Given the description of an element on the screen output the (x, y) to click on. 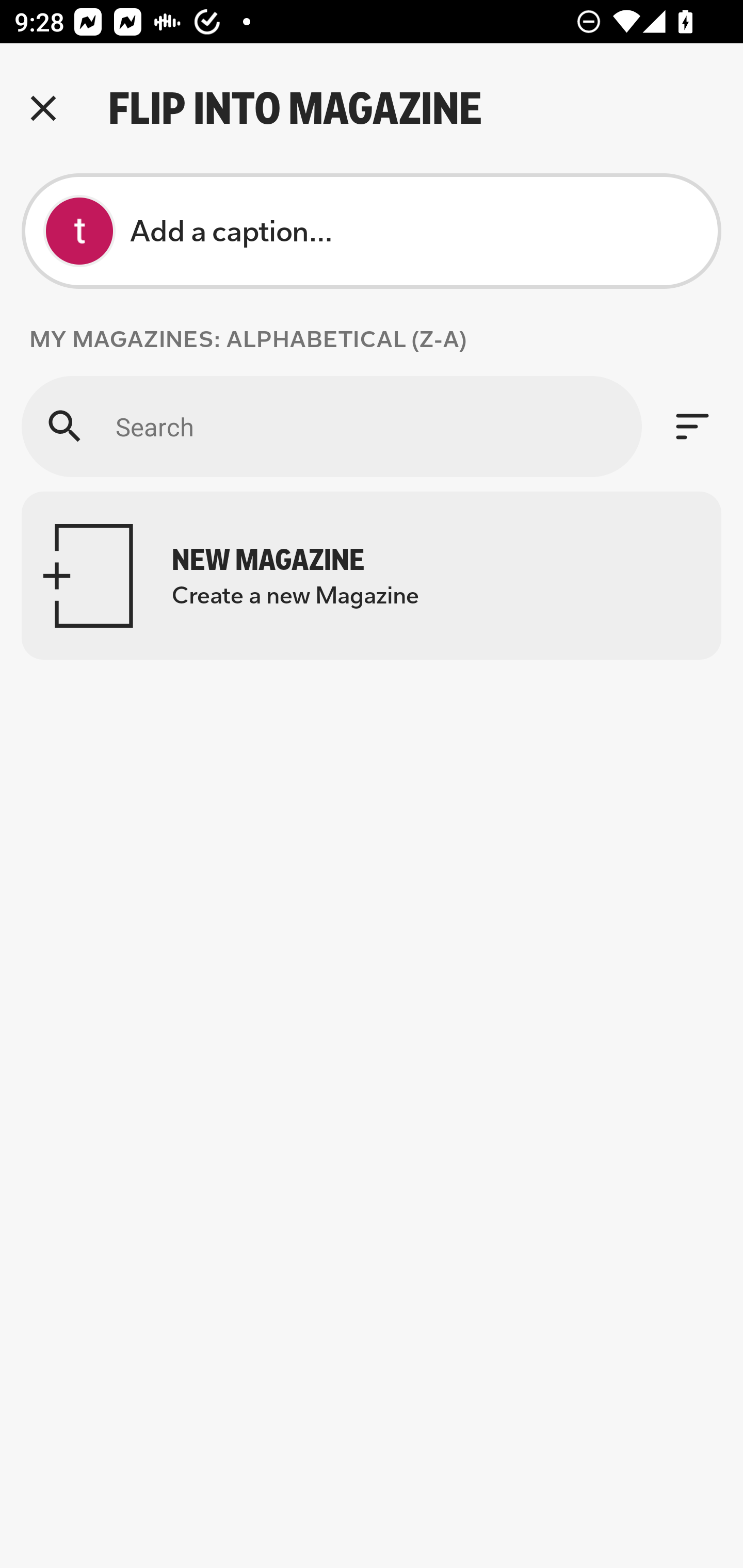
test appium Add a caption… (371, 231)
Search (331, 426)
NEW MAGAZINE Create a new Magazine (371, 575)
